Given the description of an element on the screen output the (x, y) to click on. 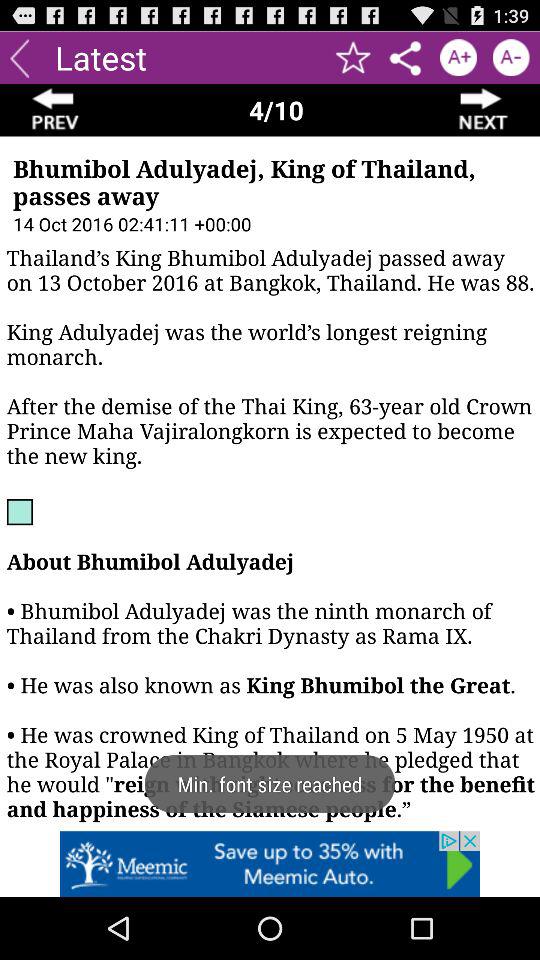
mark article as a favorite (353, 57)
